Given the description of an element on the screen output the (x, y) to click on. 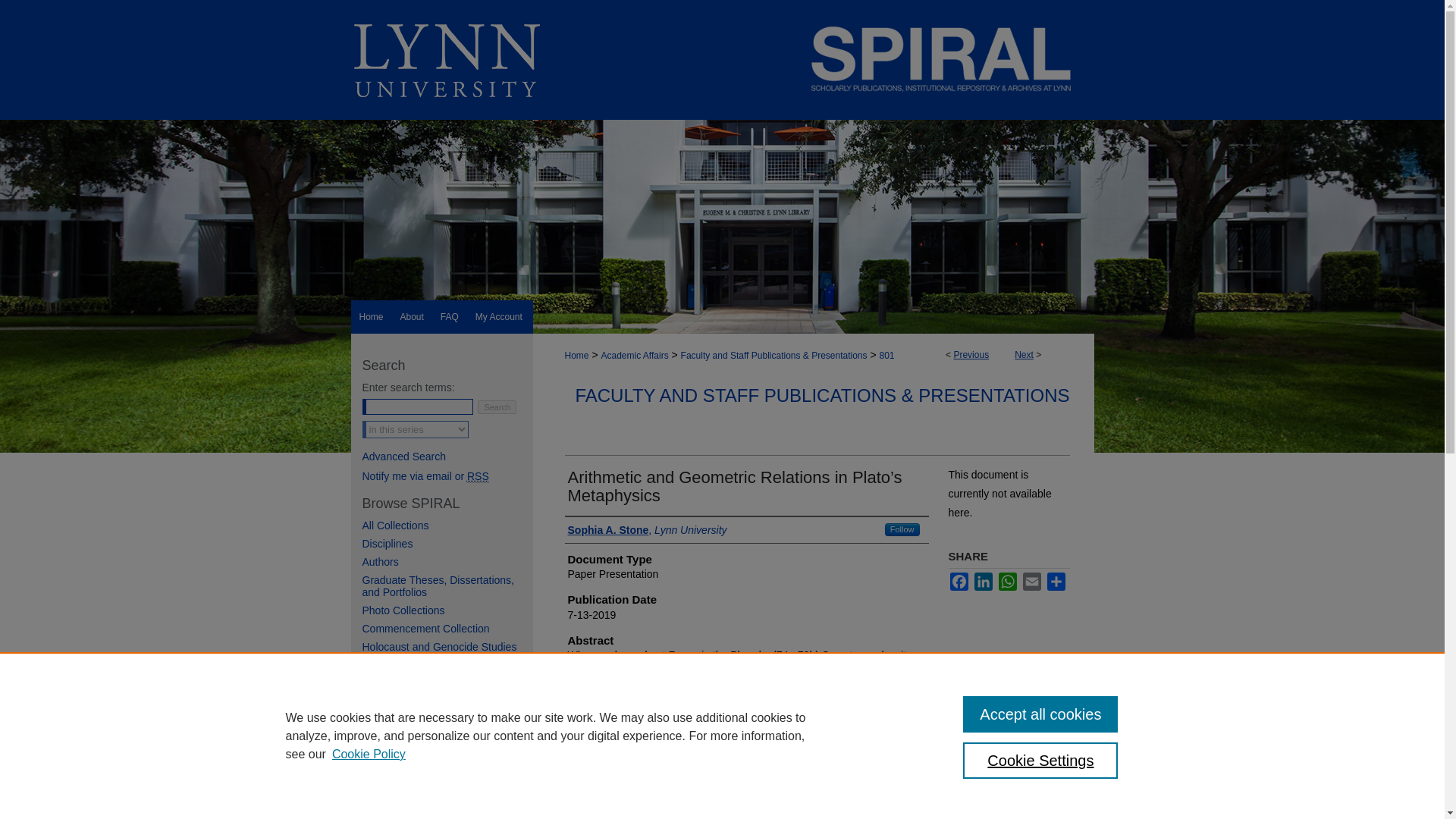
Home (576, 355)
Next (1023, 354)
My Account (499, 316)
FAQ (449, 316)
Email (1031, 581)
Facebook (958, 581)
Notify me via email or RSS (447, 476)
Graduate Theses, Dissertations, and Portfolios (447, 586)
WhatsApp (1006, 581)
801 (887, 355)
Disciplines (447, 543)
FAQ (449, 316)
Advanced Search (404, 456)
Follow Sophia A. Stone (902, 529)
Search (496, 407)
